Given the description of an element on the screen output the (x, y) to click on. 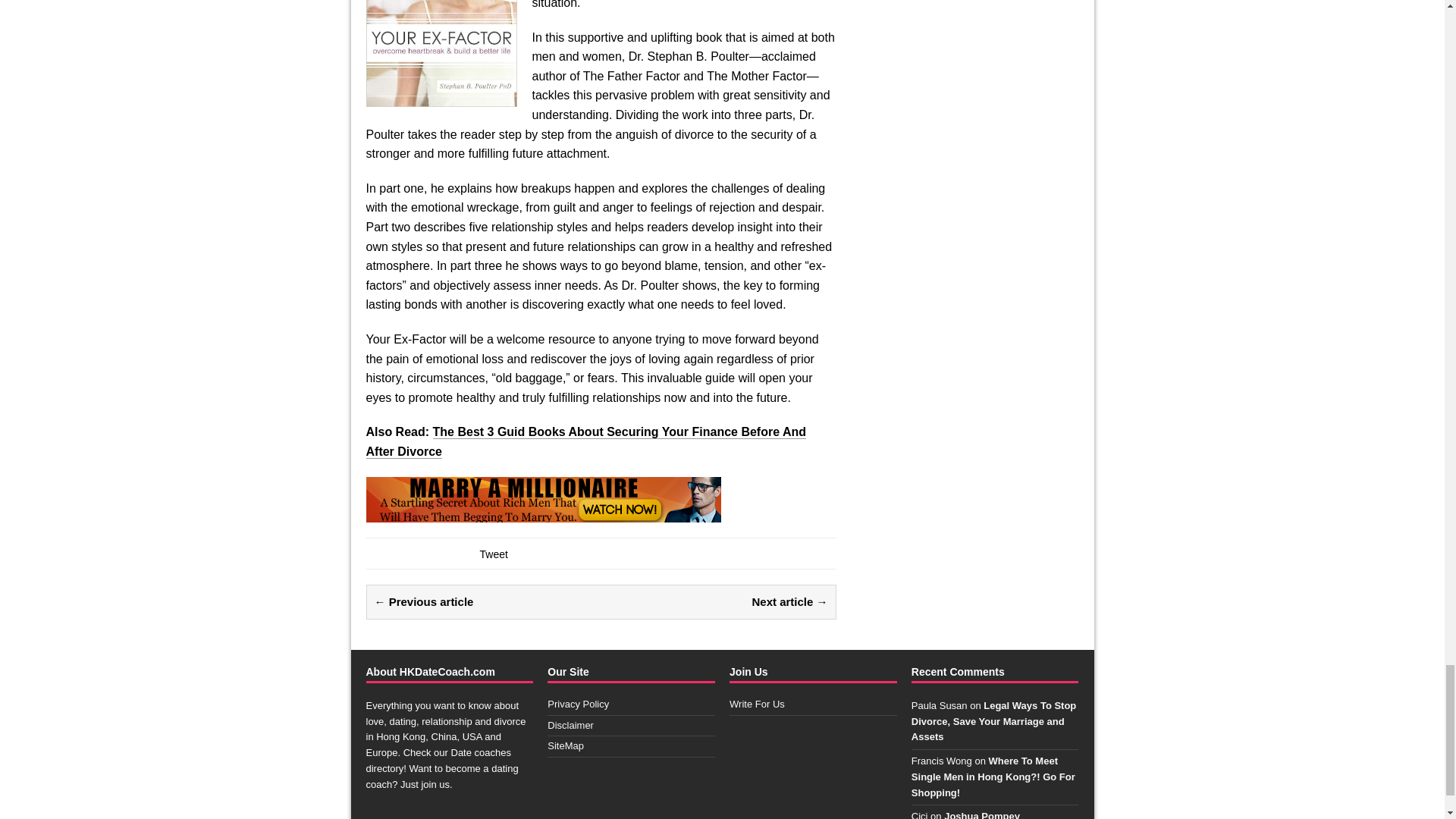
Legal Ways To Stop Divorce, Save Your Marriage and Assets (993, 721)
SiteMap (565, 745)
Tweet (492, 553)
Where To Meet Single Men in Hong Kong?! Go For Shopping! (993, 776)
Write For Us (756, 704)
Disclaimer (570, 725)
Joshua Pompey (981, 814)
Privacy Policy (577, 704)
